Given the description of an element on the screen output the (x, y) to click on. 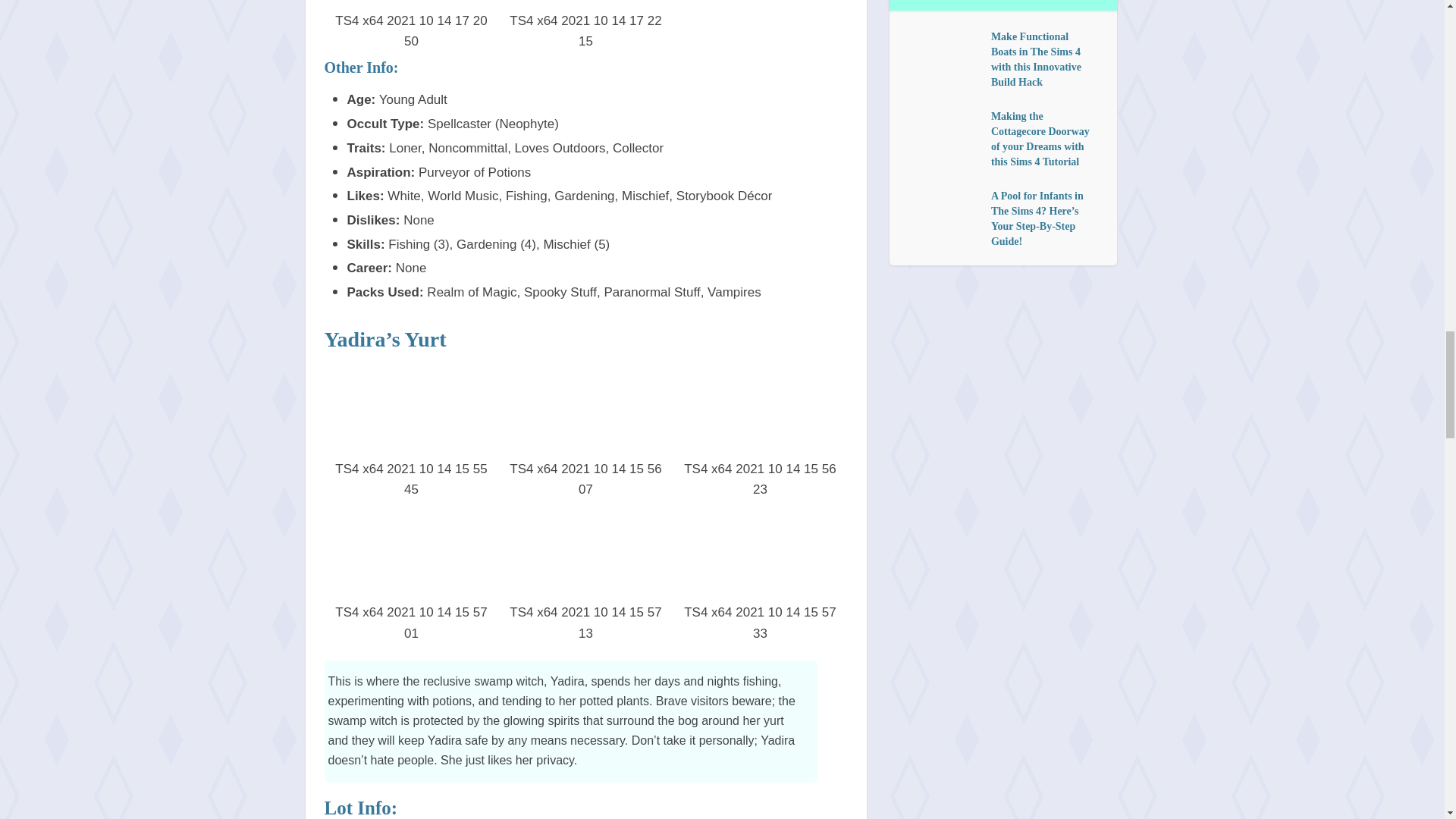
The Sims 4 Story Starter Kit: Yadira the Swamp Witch 9 (412, 4)
The Sims 4 Story Starter Kit: Yadira the Swamp Witch 16 (760, 554)
The Sims 4 Story Starter Kit: Yadira the Swamp Witch 15 (585, 554)
The Sims 4 Story Starter Kit: Yadira the Swamp Witch 13 (760, 410)
The Sims 4 Story Starter Kit: Yadira the Swamp Witch 10 (585, 4)
The Sims 4 Story Starter Kit: Yadira the Swamp Witch 14 (412, 554)
The Sims 4 Story Starter Kit: Yadira the Swamp Witch 12 (585, 410)
The Sims 4 Story Starter Kit: Yadira the Swamp Witch 11 (412, 410)
